Given the description of an element on the screen output the (x, y) to click on. 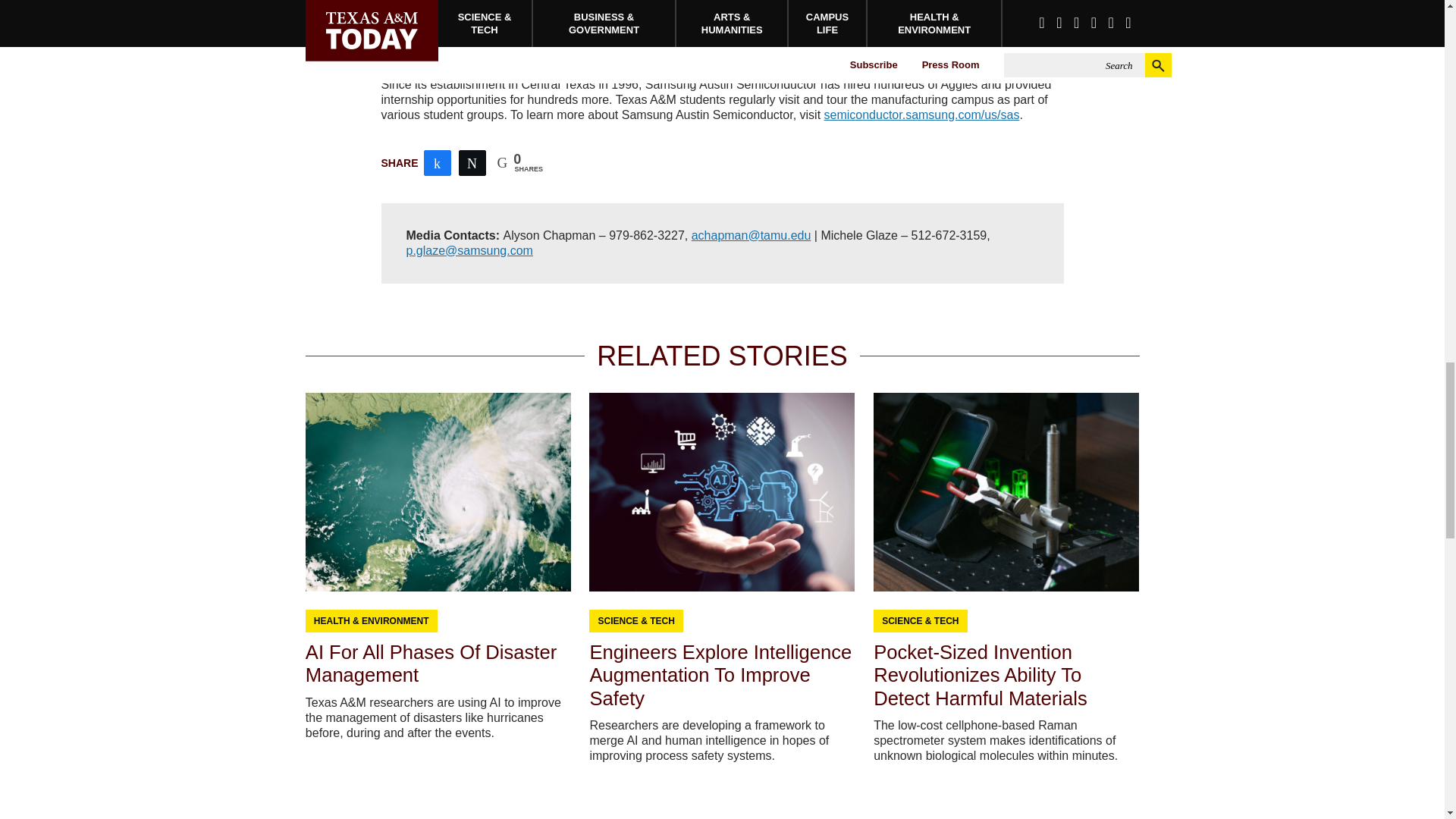
AI For All Phases Of Disaster Management (430, 663)
